Given the description of an element on the screen output the (x, y) to click on. 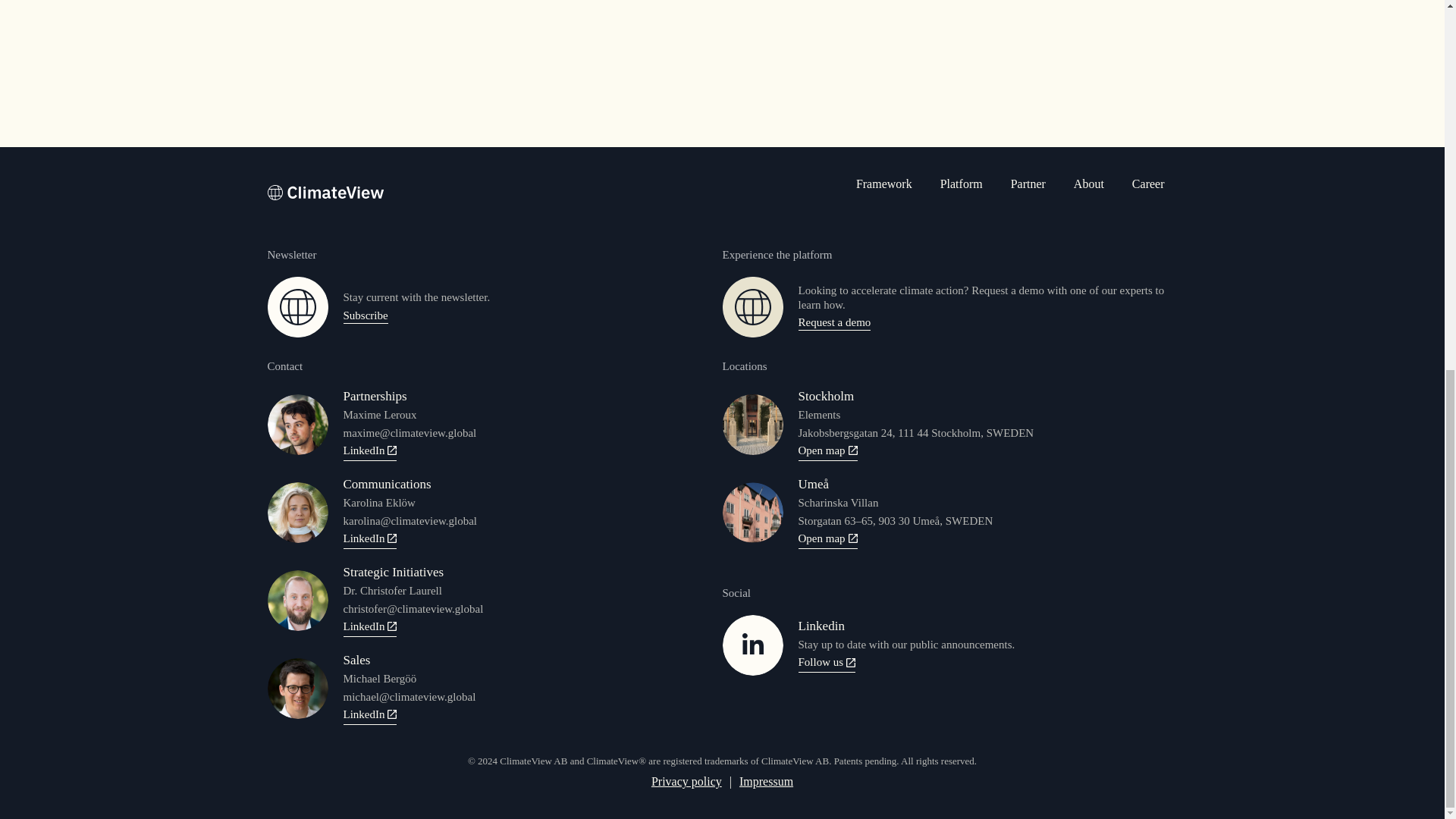
Open map (827, 540)
Impressum (766, 781)
LinkedIn (369, 452)
Open map (827, 452)
LinkedIn (369, 716)
About (1095, 193)
Privacy policy (686, 781)
LinkedIn (369, 540)
Career (1154, 193)
LinkedIn (369, 628)
